Given the description of an element on the screen output the (x, y) to click on. 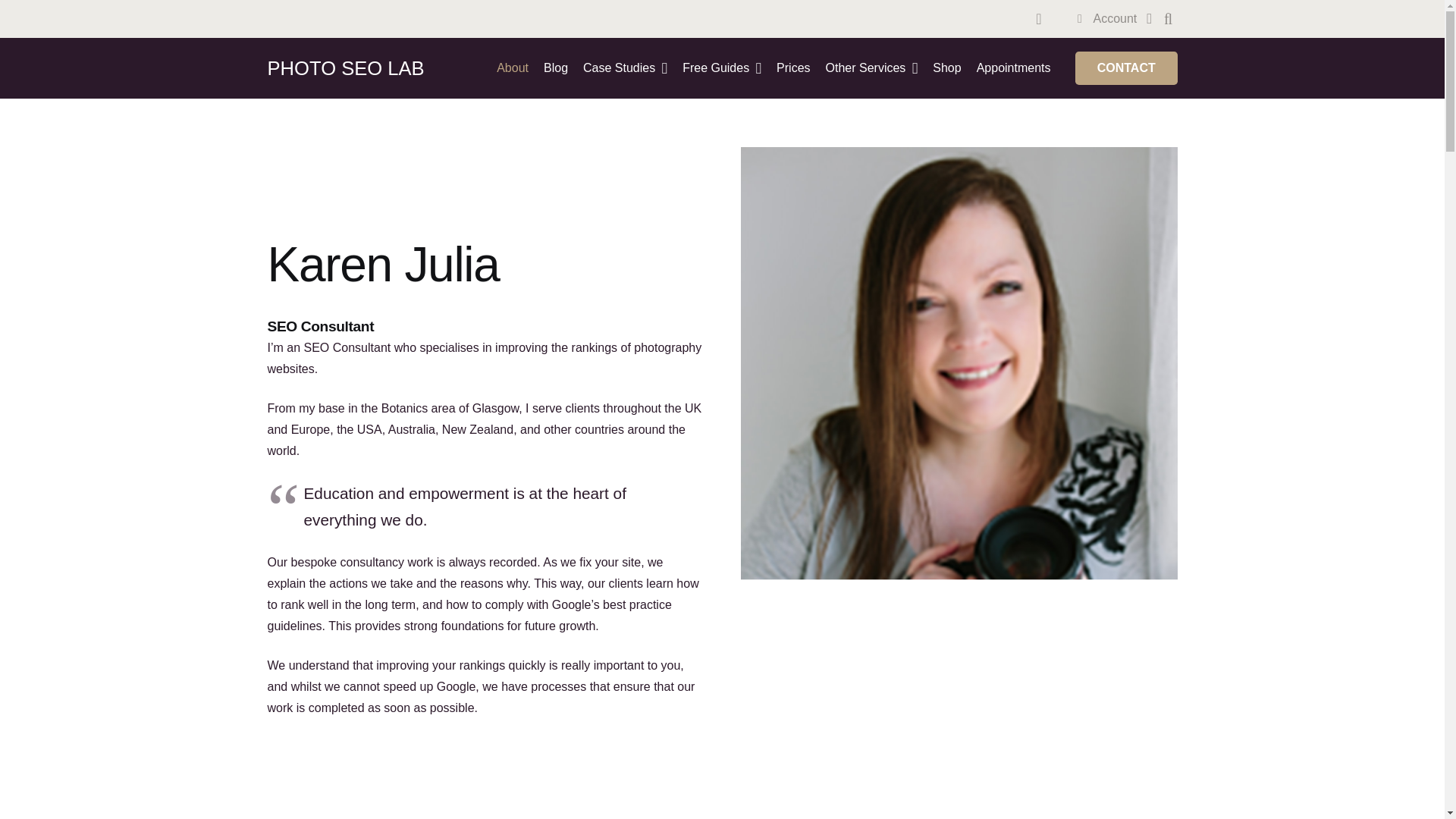
CONTACT (1126, 68)
Case Studies (625, 67)
Appointments (1013, 67)
Free Guides (721, 67)
Account (1111, 18)
PHOTO SEO LAB (344, 67)
Other Services (872, 67)
